Given the description of an element on the screen output the (x, y) to click on. 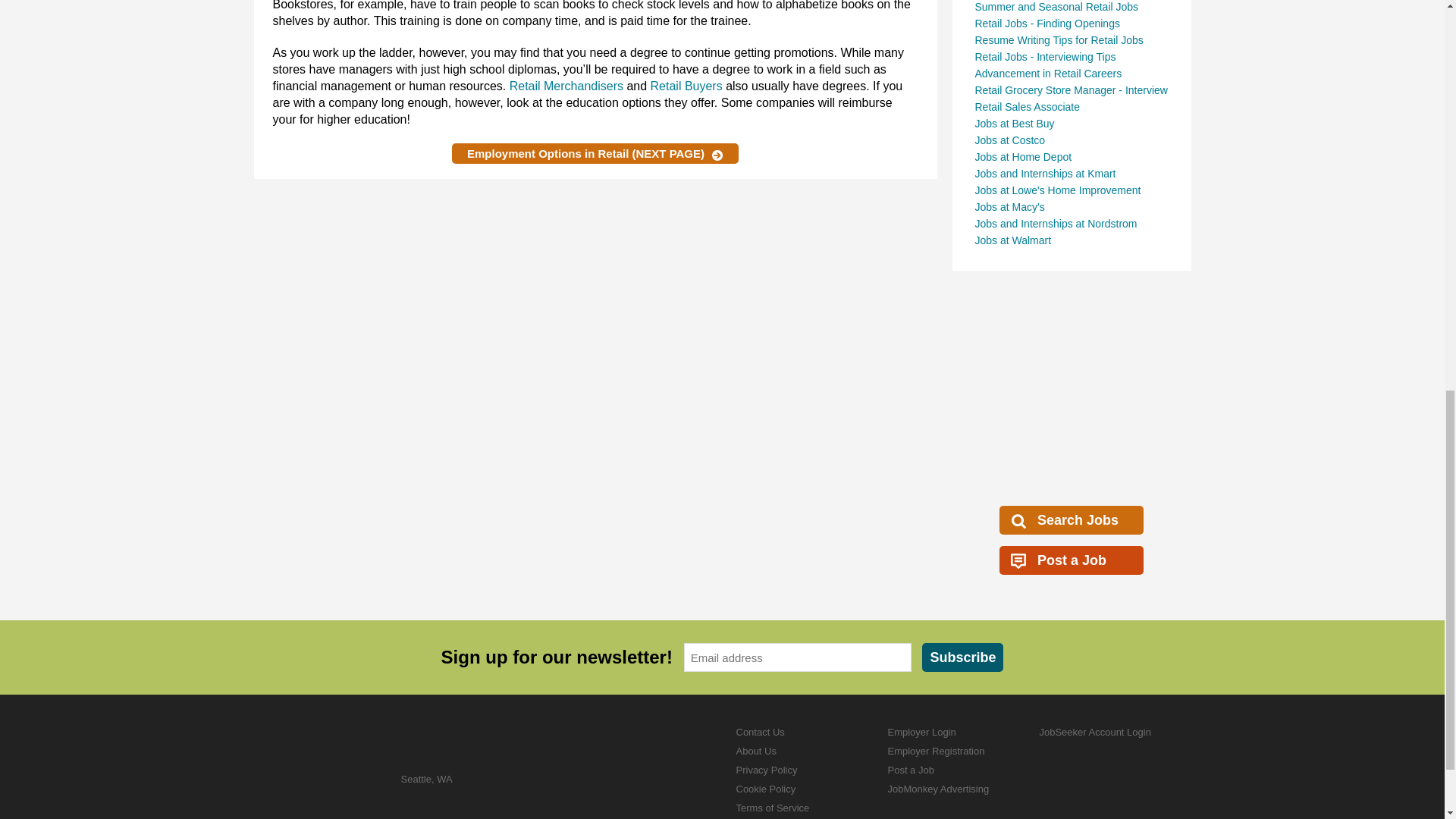
Subscribe (962, 656)
